Given the description of an element on the screen output the (x, y) to click on. 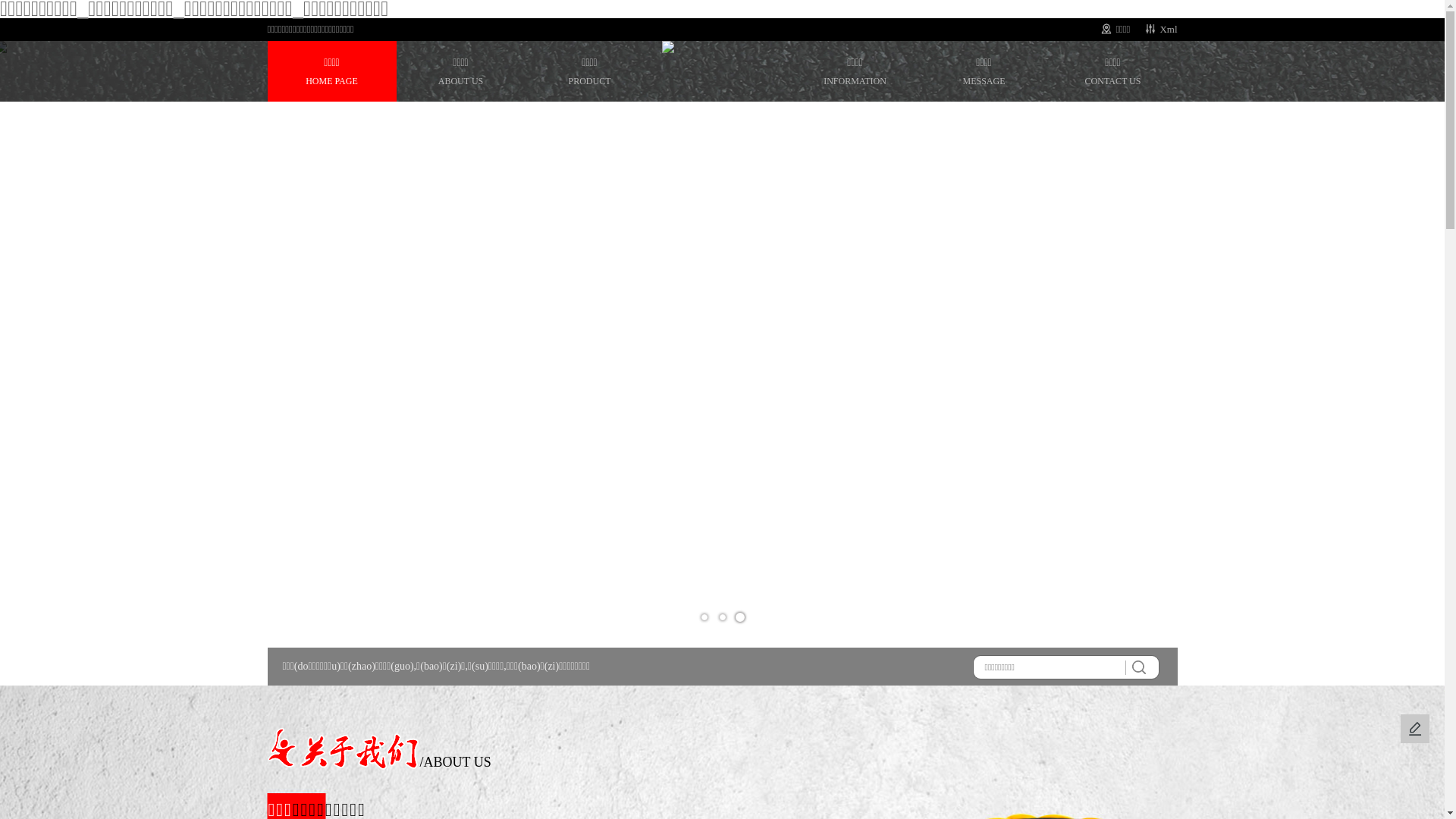
Xml Element type: text (1167, 28)
